Given the description of an element on the screen output the (x, y) to click on. 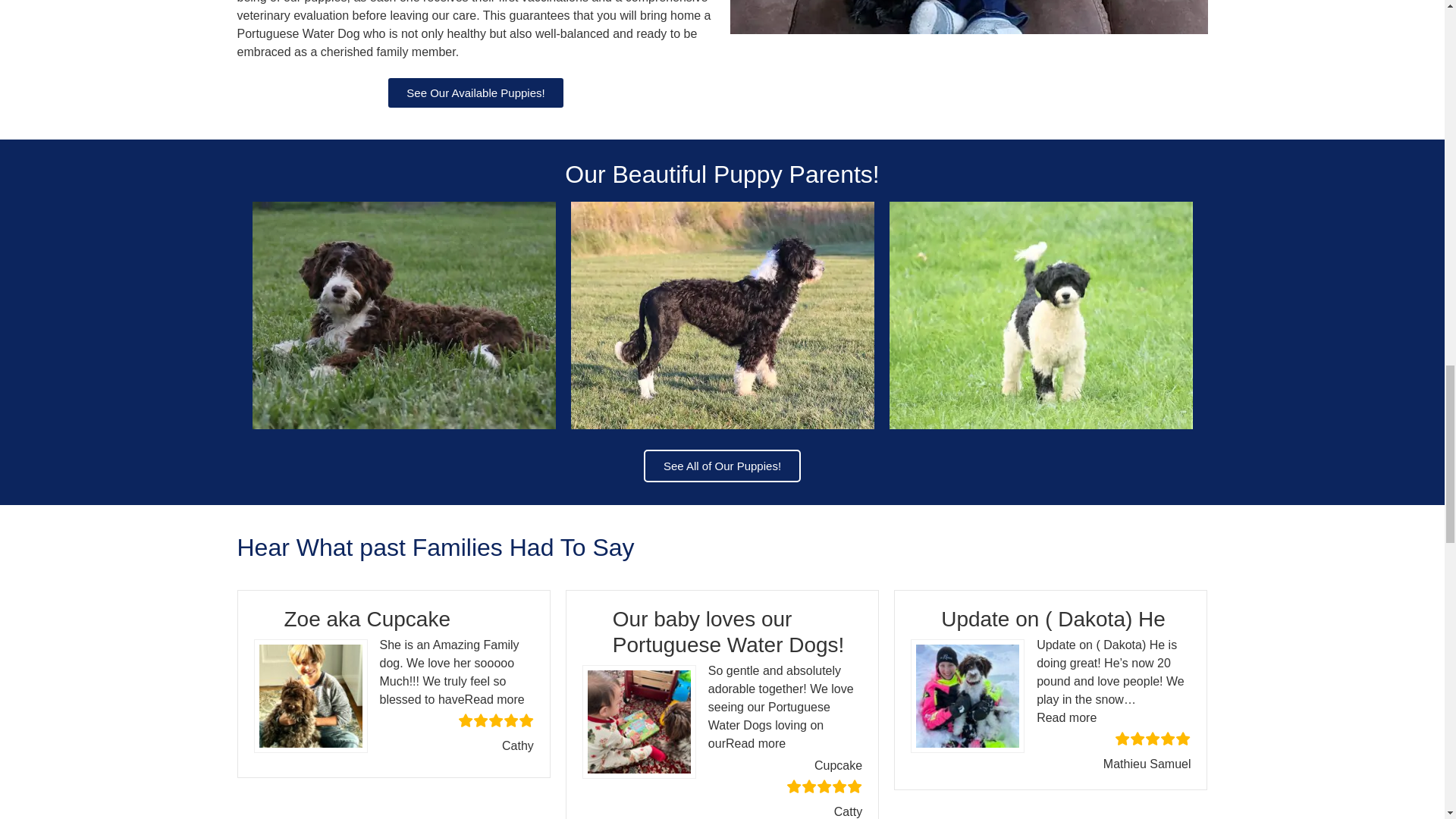
Read more (1066, 717)
Read more (755, 743)
Read more (494, 698)
See All of Our Puppies! (721, 465)
See Our Available Puppies! (475, 92)
